Given the description of an element on the screen output the (x, y) to click on. 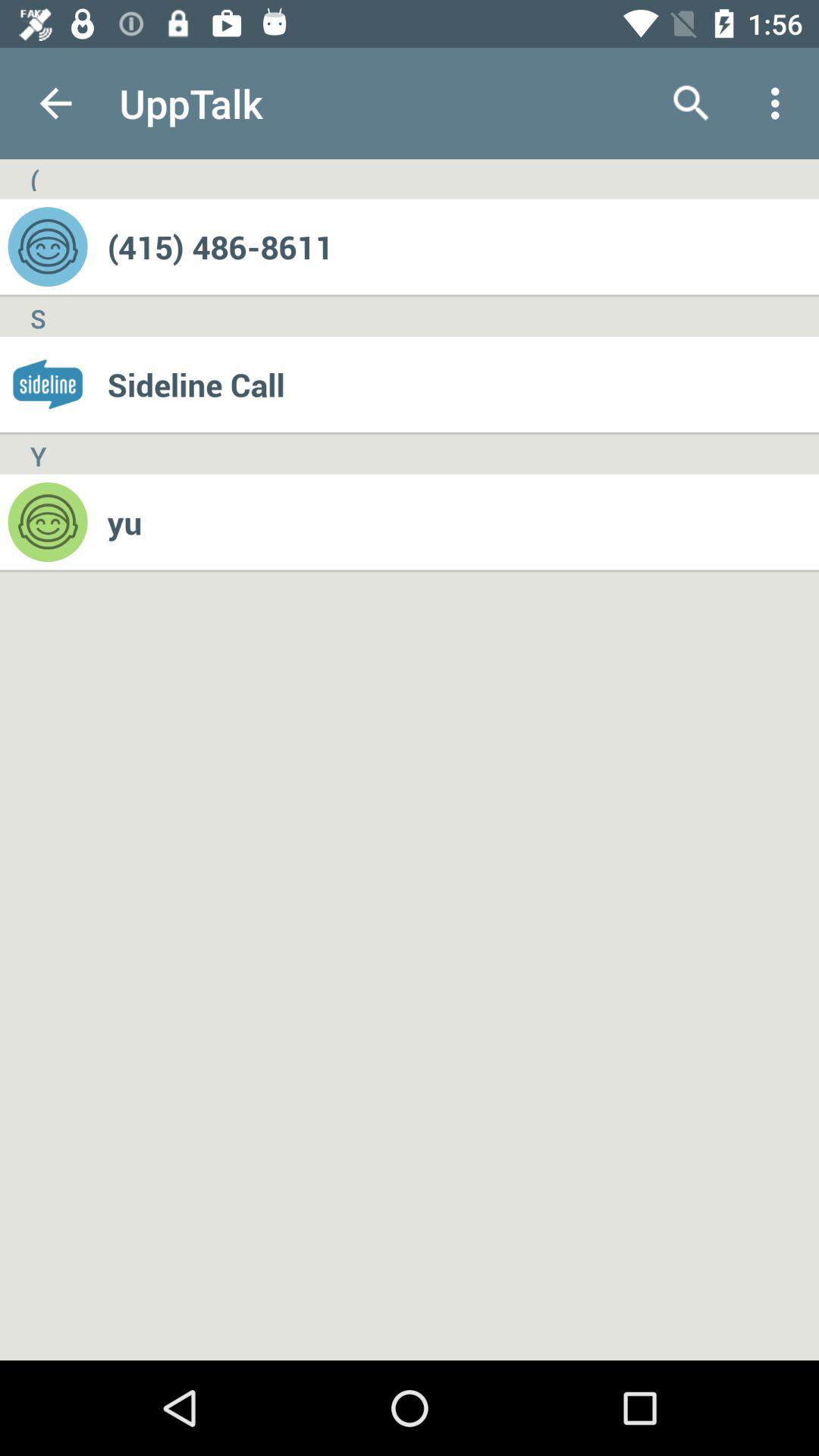
open the icon above ( icon (55, 103)
